Given the description of an element on the screen output the (x, y) to click on. 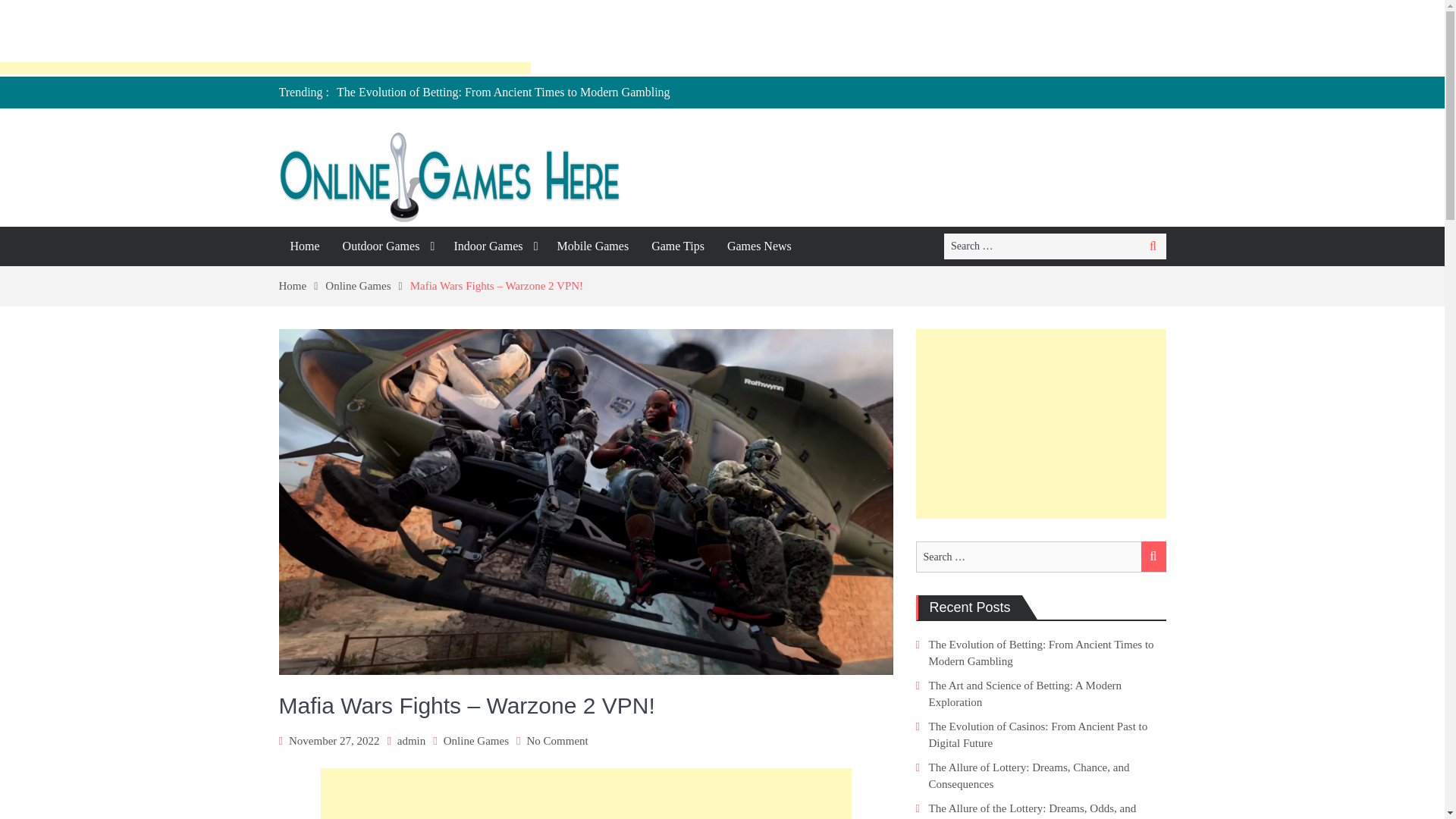
Mobile Games (592, 246)
Advertisement (1040, 423)
Home (302, 285)
November 27, 2022 (334, 740)
Outdoor Games (386, 246)
admin (411, 740)
Game Tips (678, 246)
Online Games (476, 740)
Games News (759, 246)
Indoor Games (493, 246)
